Given the description of an element on the screen output the (x, y) to click on. 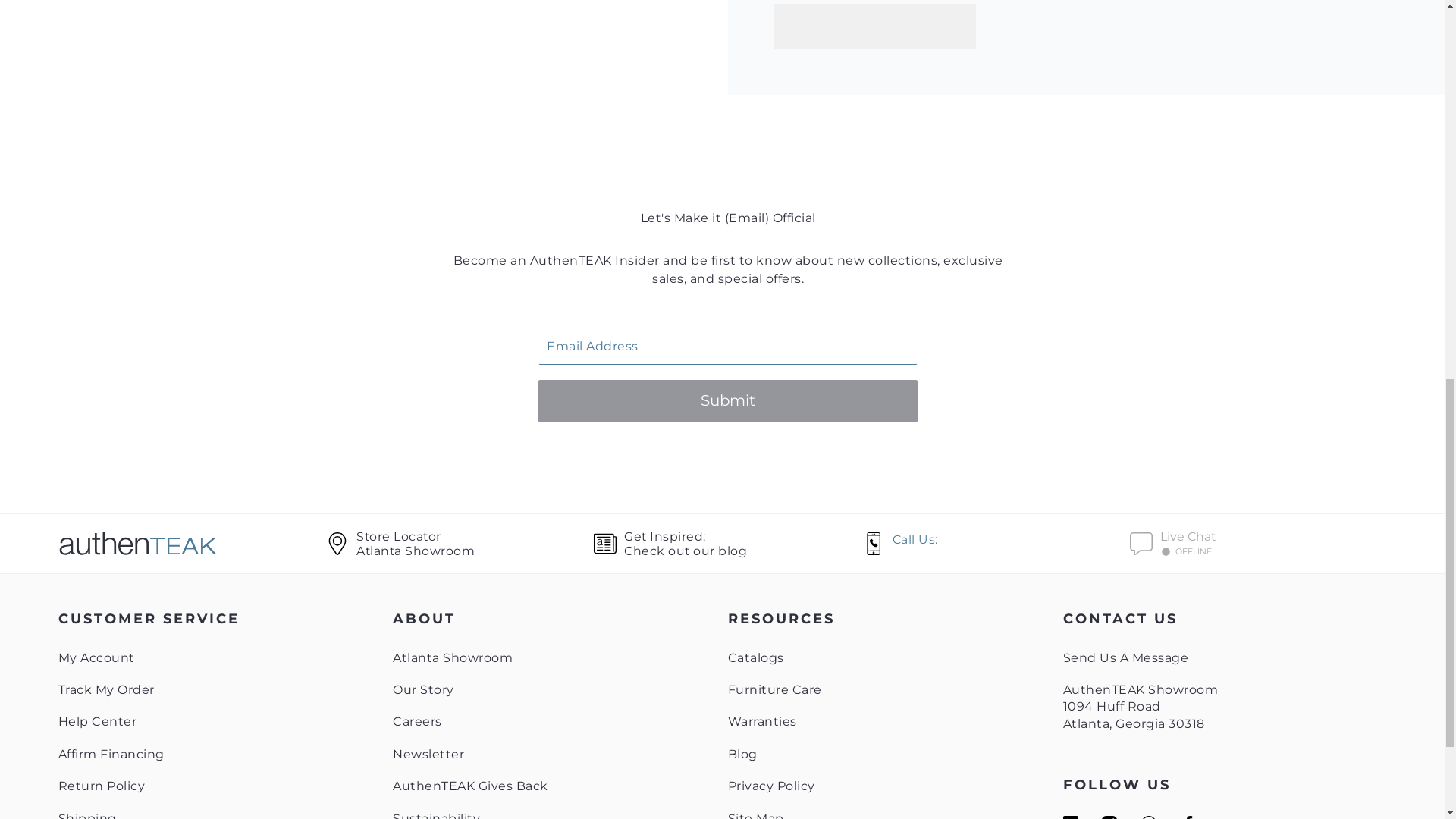
Catalogs (756, 657)
Sustainability (727, 543)
Shipping (436, 815)
My Account (87, 815)
Careers (96, 657)
Affirm Financing (417, 721)
authenteak.com (111, 753)
Our Story (192, 542)
Return Policy (423, 689)
AuthenTEAK Gives Back (101, 785)
Track My Order (470, 785)
Atlanta Showroom (106, 689)
Call Us: (452, 657)
